Given the description of an element on the screen output the (x, y) to click on. 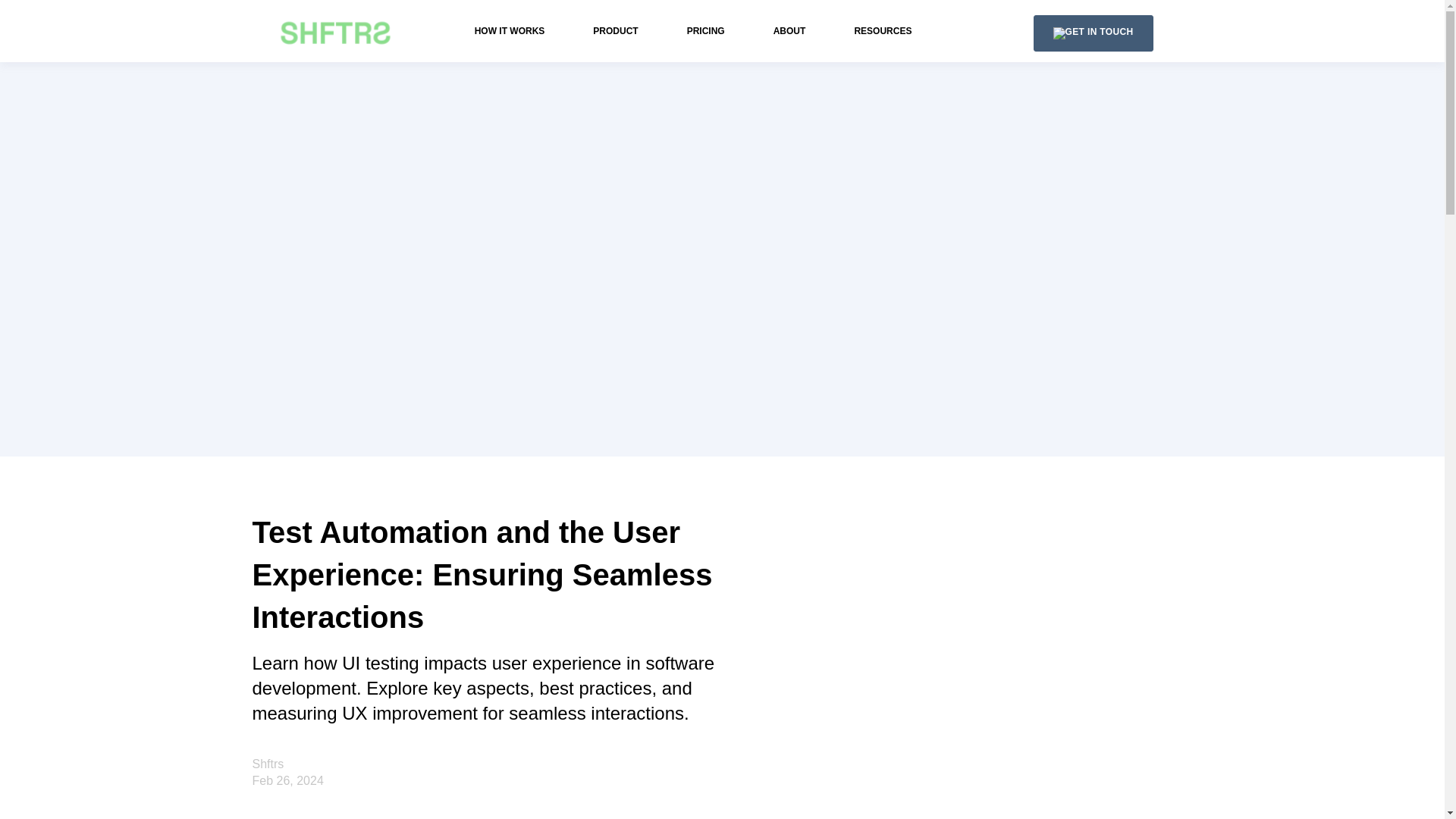
ABOUT (789, 30)
Shftrs (267, 763)
HOW IT WORKS (509, 30)
RESOURCES (882, 30)
PRODUCT (614, 30)
PRICING (706, 30)
